Given the description of an element on the screen output the (x, y) to click on. 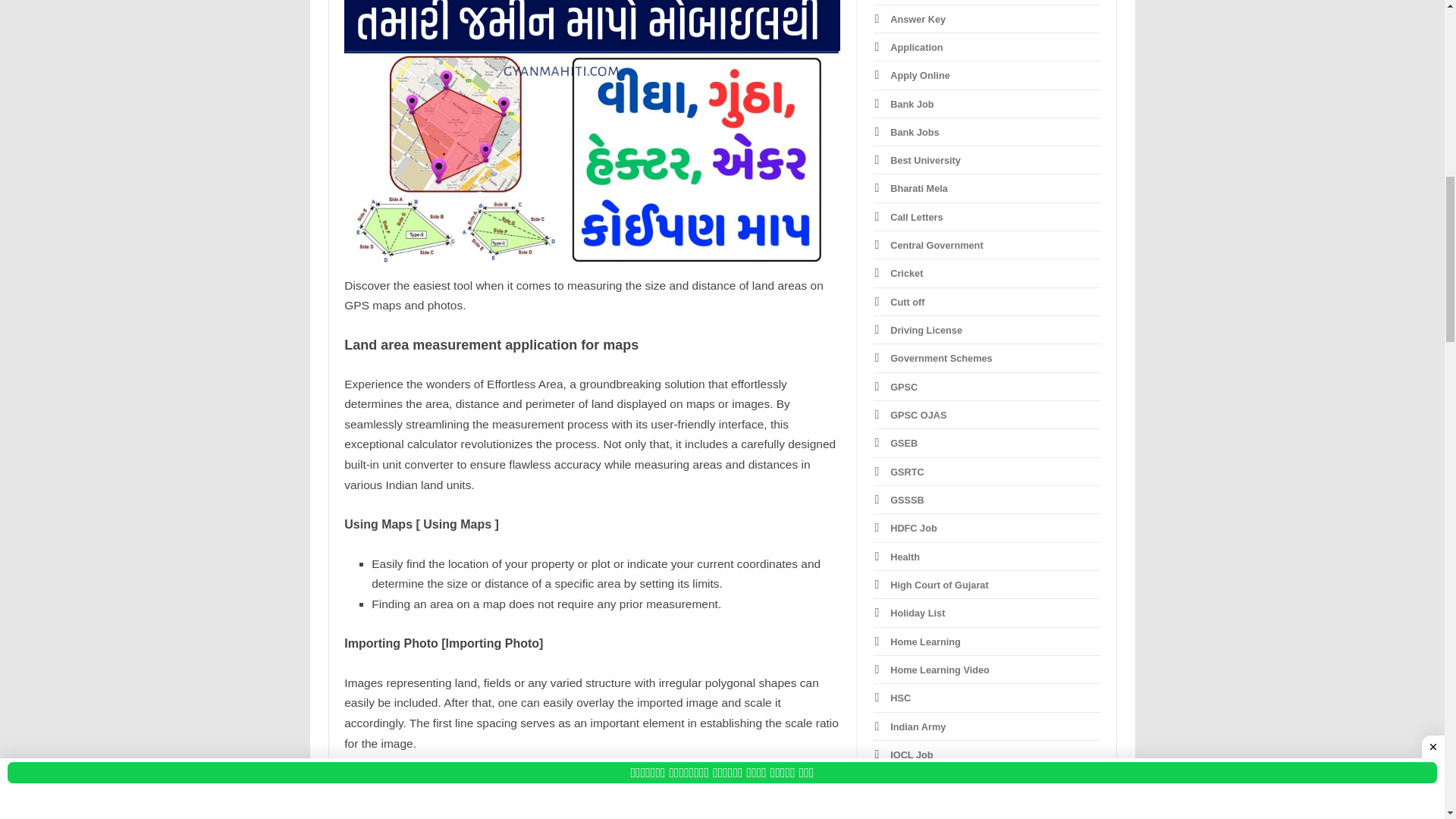
Best University (924, 160)
Land Calculator 3 (591, 132)
Call Letters (915, 216)
Apply Online (919, 75)
Bank Jobs (914, 132)
Bank Job (911, 103)
Application (915, 47)
Answer Key (916, 19)
Bharati Mela (918, 188)
